Given the description of an element on the screen output the (x, y) to click on. 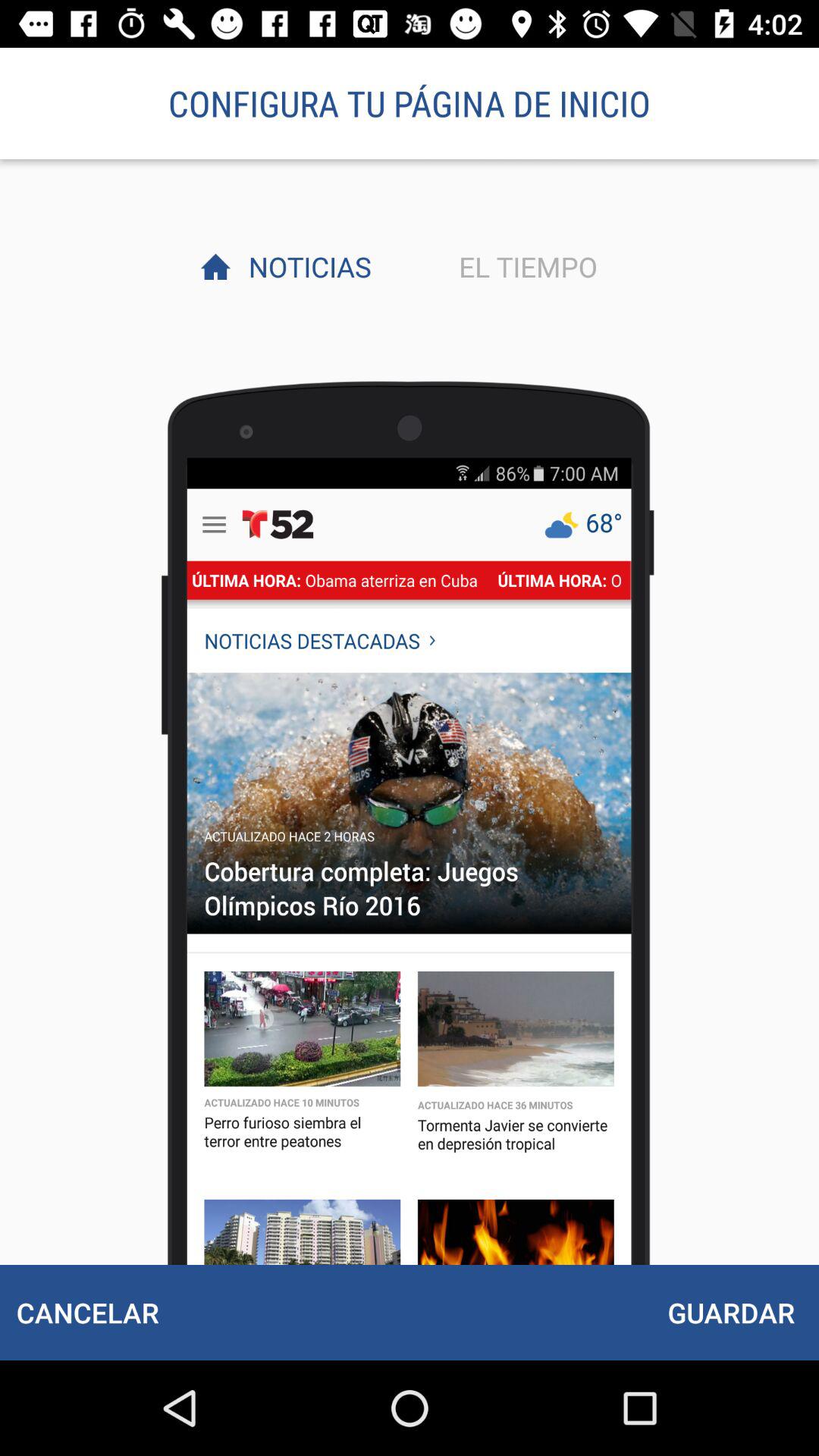
launch the icon next to the guardar item (87, 1312)
